Given the description of an element on the screen output the (x, y) to click on. 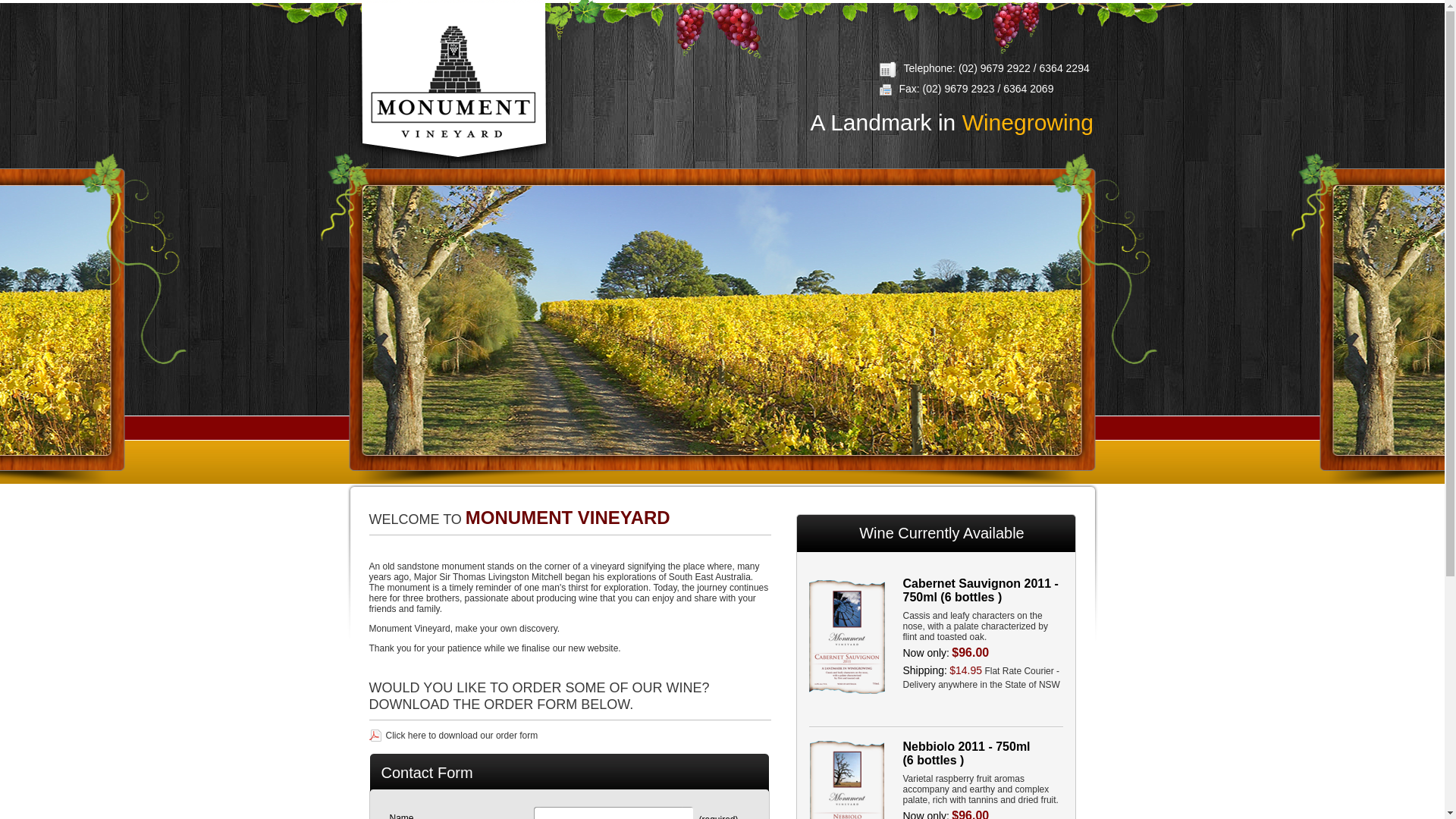
MOUMENT VINEYARD Element type: hover (452, 81)
Click here to download our order form Element type: text (452, 735)
